Given the description of an element on the screen output the (x, y) to click on. 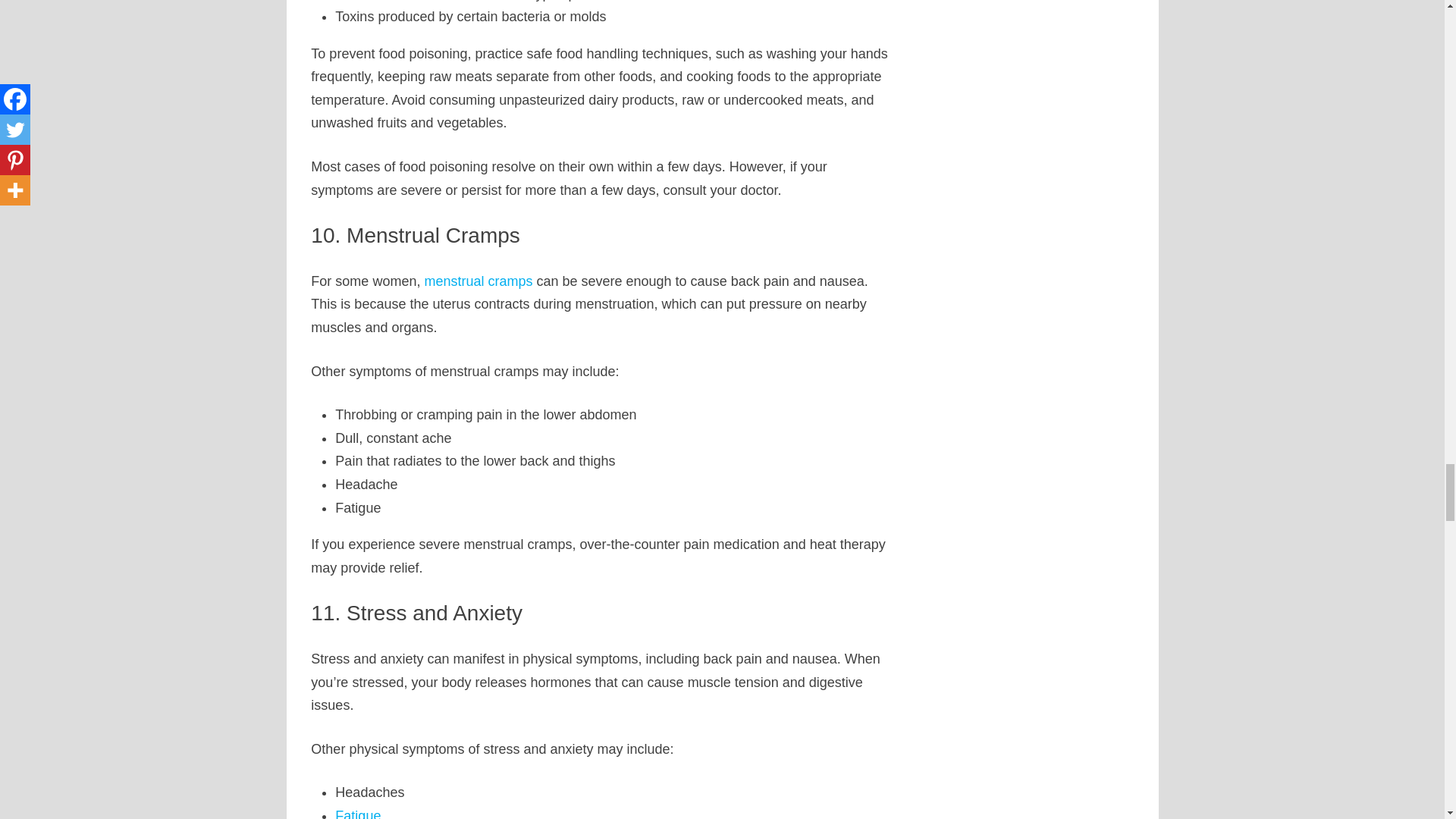
menstrual cramps (477, 281)
Fatigue (357, 813)
